Given the description of an element on the screen output the (x, y) to click on. 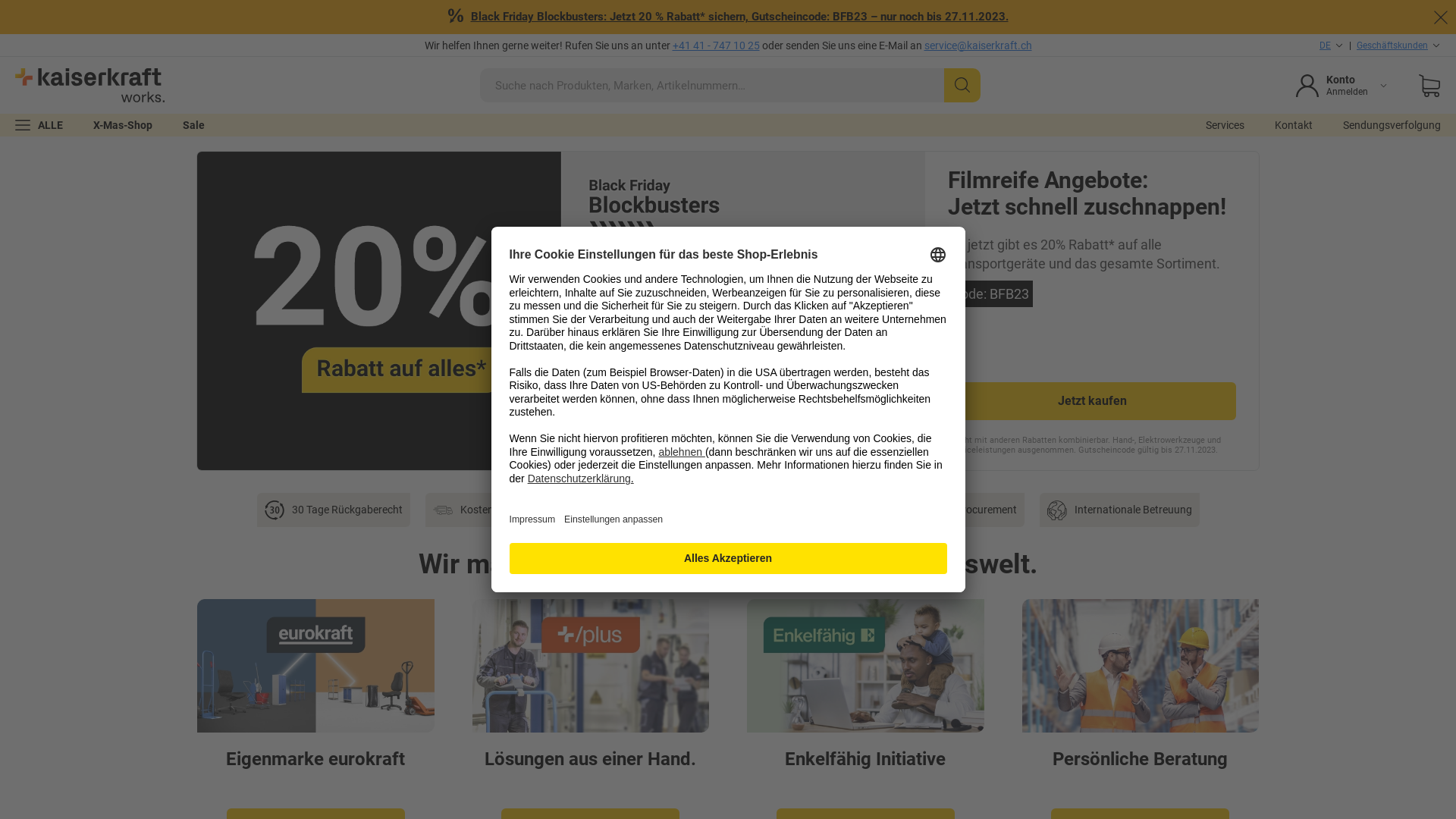
+41 41 - 747 10 25 Element type: text (715, 45)
DE Element type: text (1331, 45)
service@kaiserkraft.ch Element type: text (977, 45)
Konto
Anmelden Element type: text (1341, 84)
Jetzt kaufen Element type: text (1091, 401)
